Given the description of an element on the screen output the (x, y) to click on. 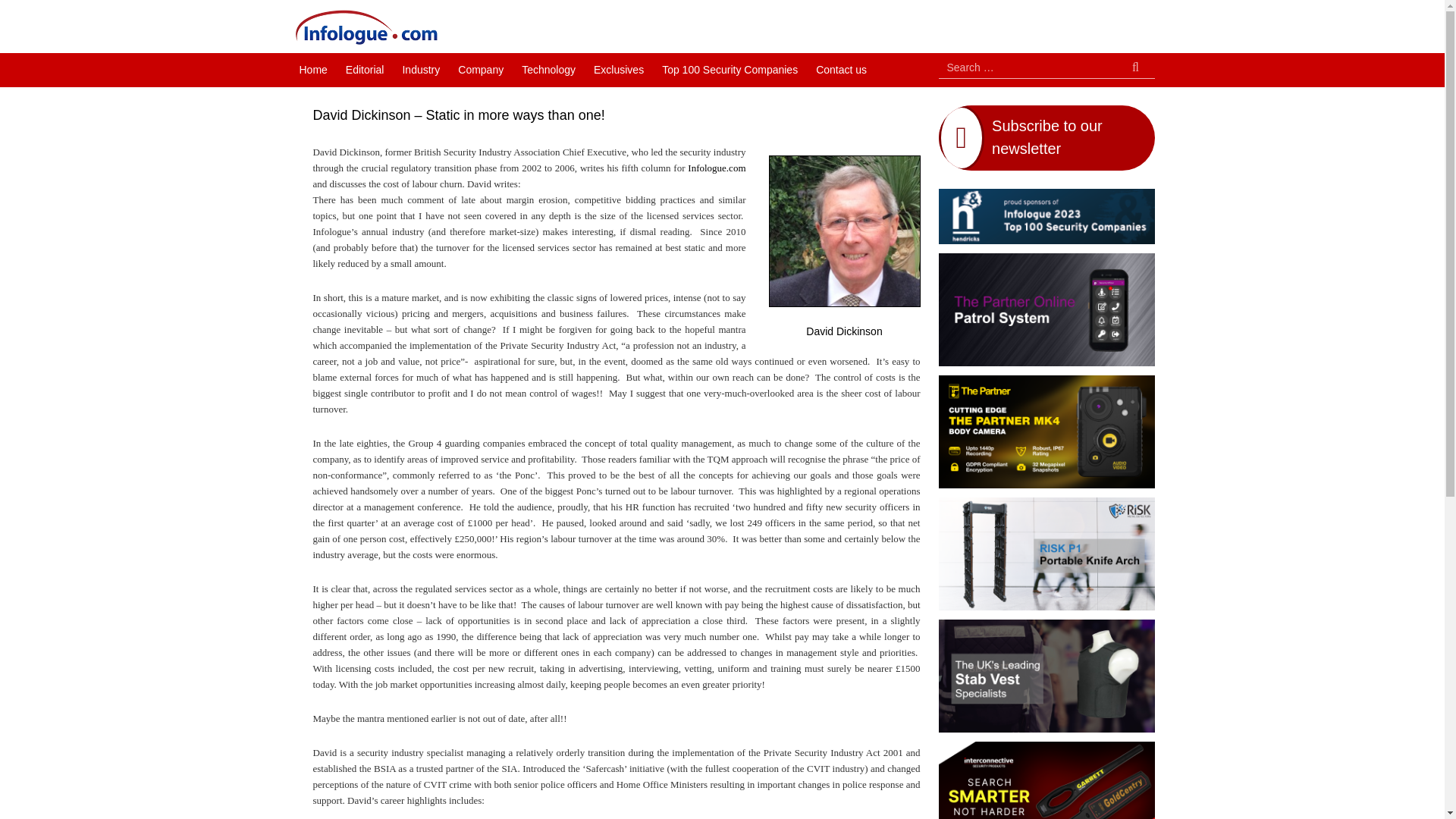
Home (312, 69)
David Dickinson (844, 230)
Industry (420, 69)
Infologue.com (716, 166)
Company (480, 69)
Top 100 Security Companies (729, 69)
Technology (548, 69)
Contact us (841, 69)
Exclusives (618, 69)
Editorial (364, 69)
